Given the description of an element on the screen output the (x, y) to click on. 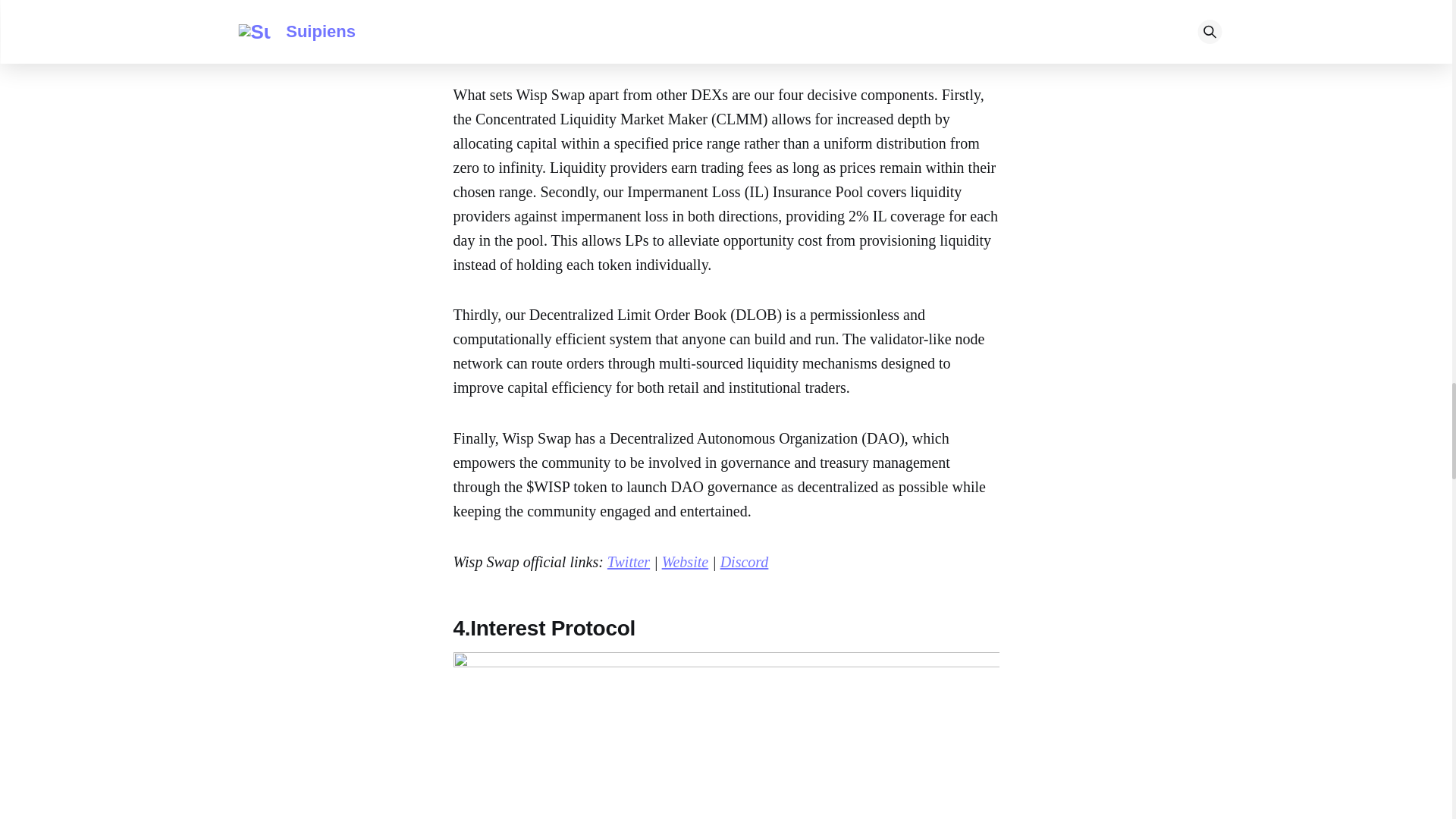
Twitter (628, 561)
Website (684, 561)
Discord (744, 561)
